Given the description of an element on the screen output the (x, y) to click on. 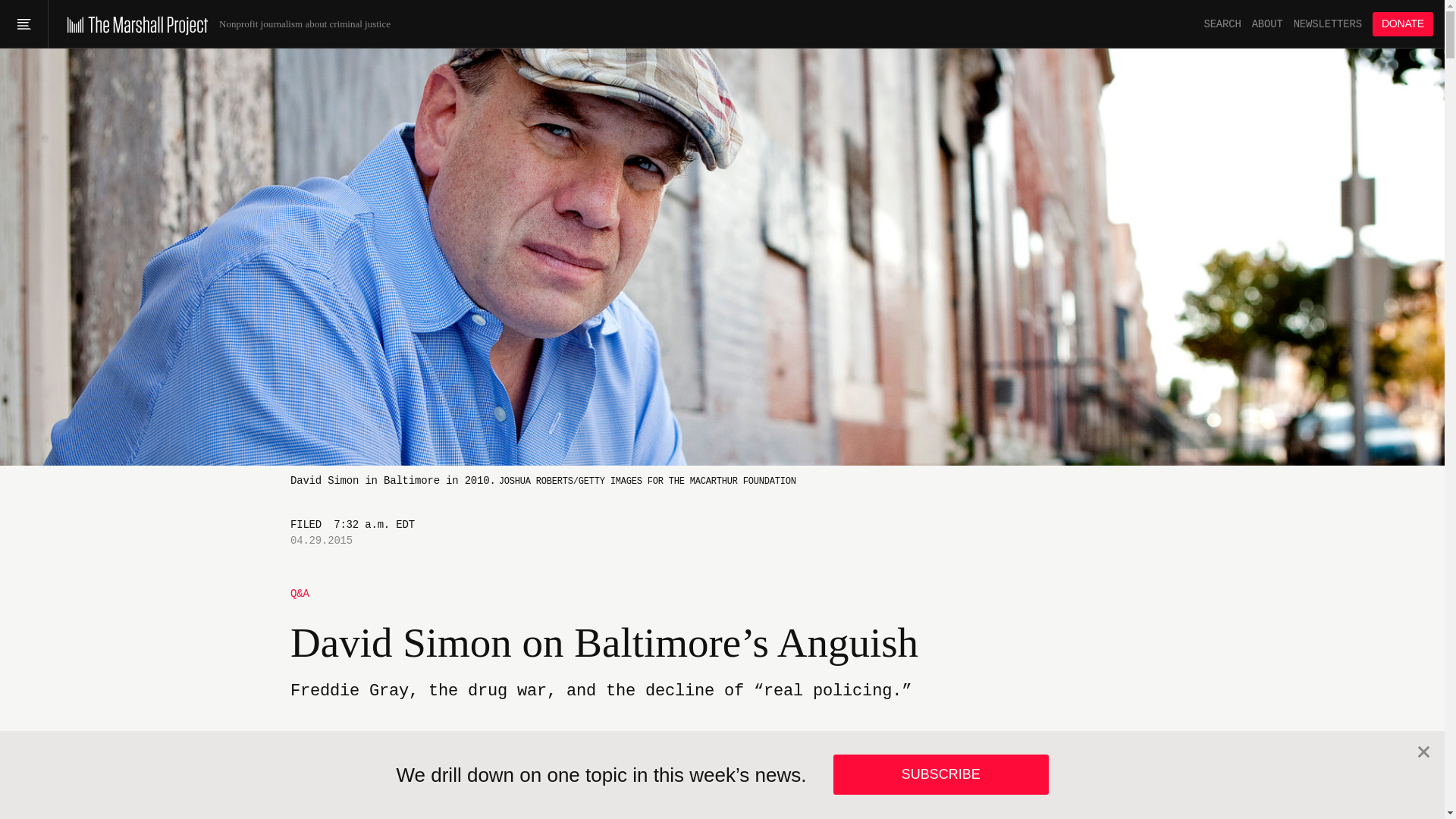
NEWSLETTERS (1327, 24)
SEARCH (1222, 24)
ABOUT (1267, 24)
DONATE (1402, 24)
